Given the description of an element on the screen output the (x, y) to click on. 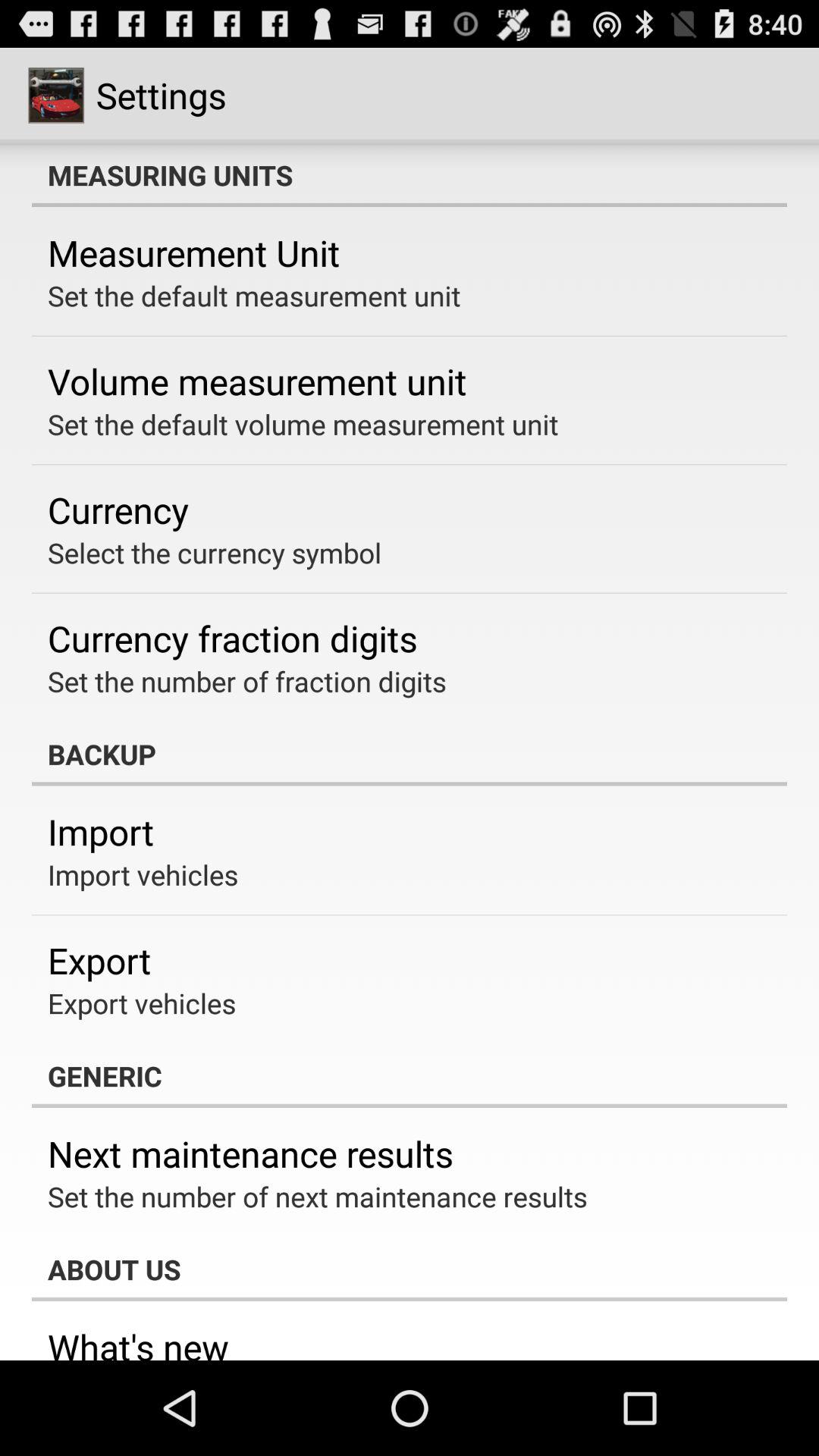
scroll until the about us app (409, 1269)
